Given the description of an element on the screen output the (x, y) to click on. 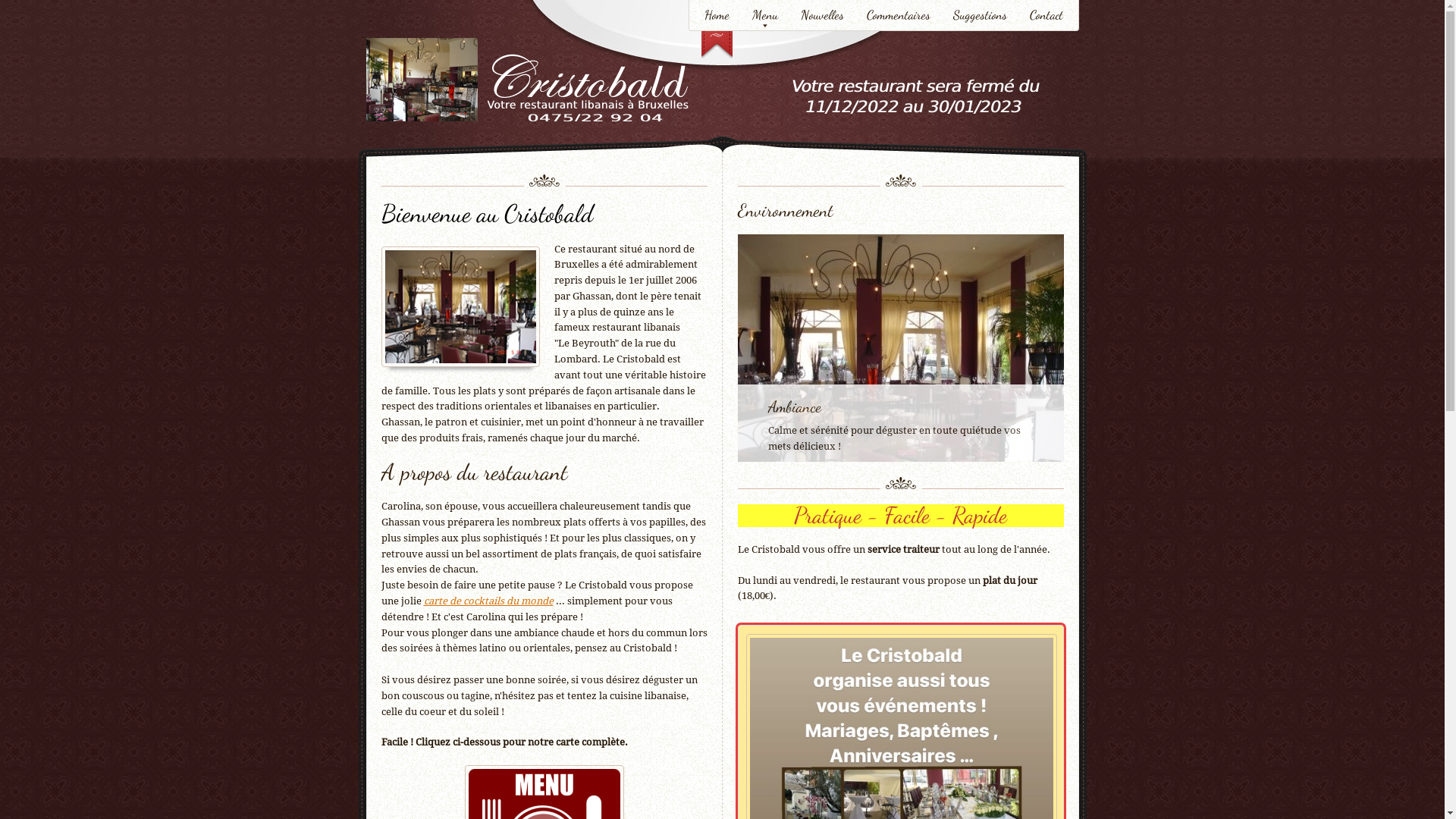
Commentaires Element type: text (898, 16)
carte de cocktails du monde Element type: text (487, 600)
Menu Element type: text (764, 16)
Nouvelles Element type: text (821, 16)
Contact Element type: text (1045, 16)
Suggestions Element type: text (979, 16)
Home Element type: text (716, 16)
Ambiance Element type: text (793, 406)
